Given the description of an element on the screen output the (x, y) to click on. 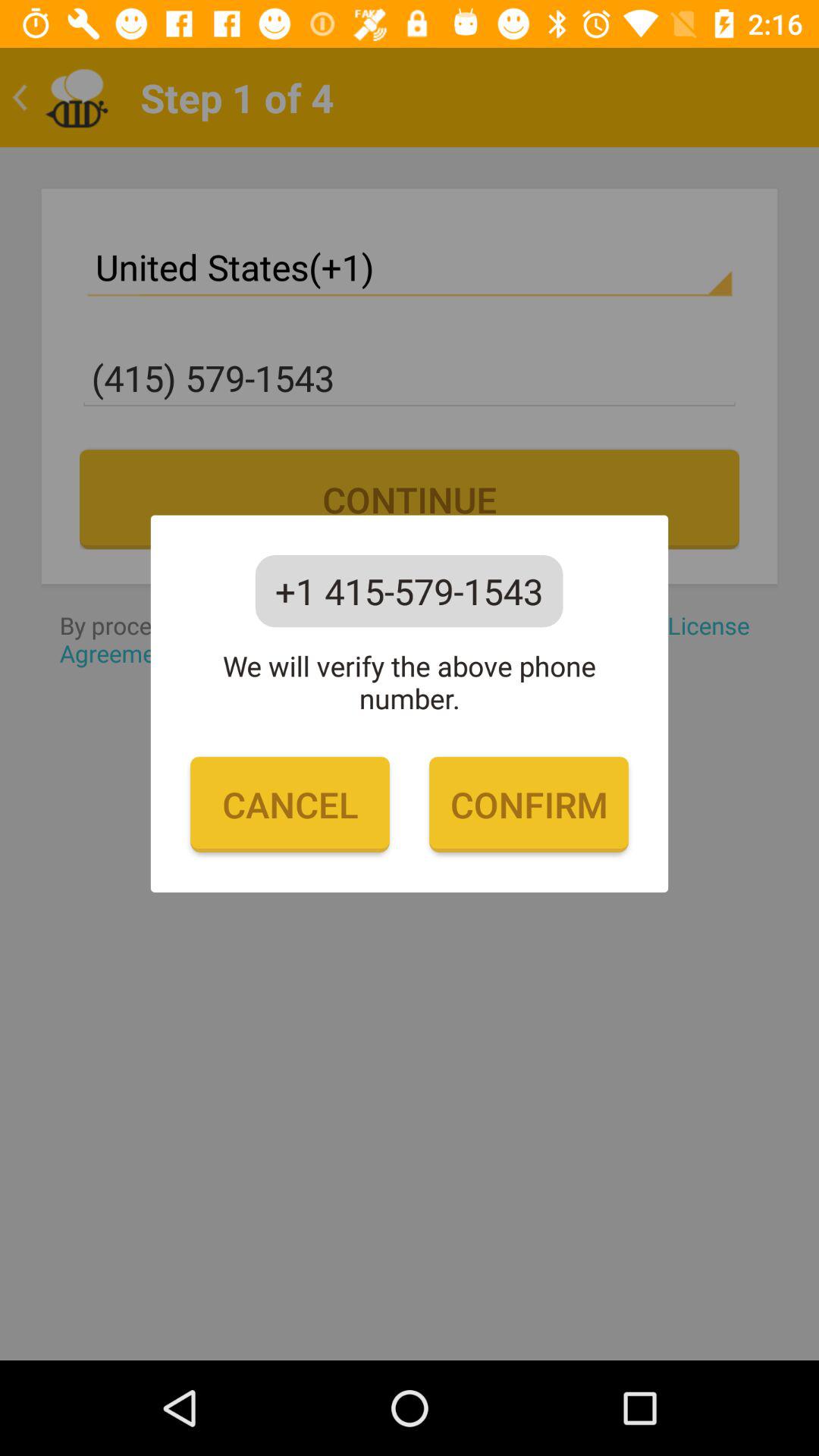
turn off the item below the we will verify icon (528, 804)
